Given the description of an element on the screen output the (x, y) to click on. 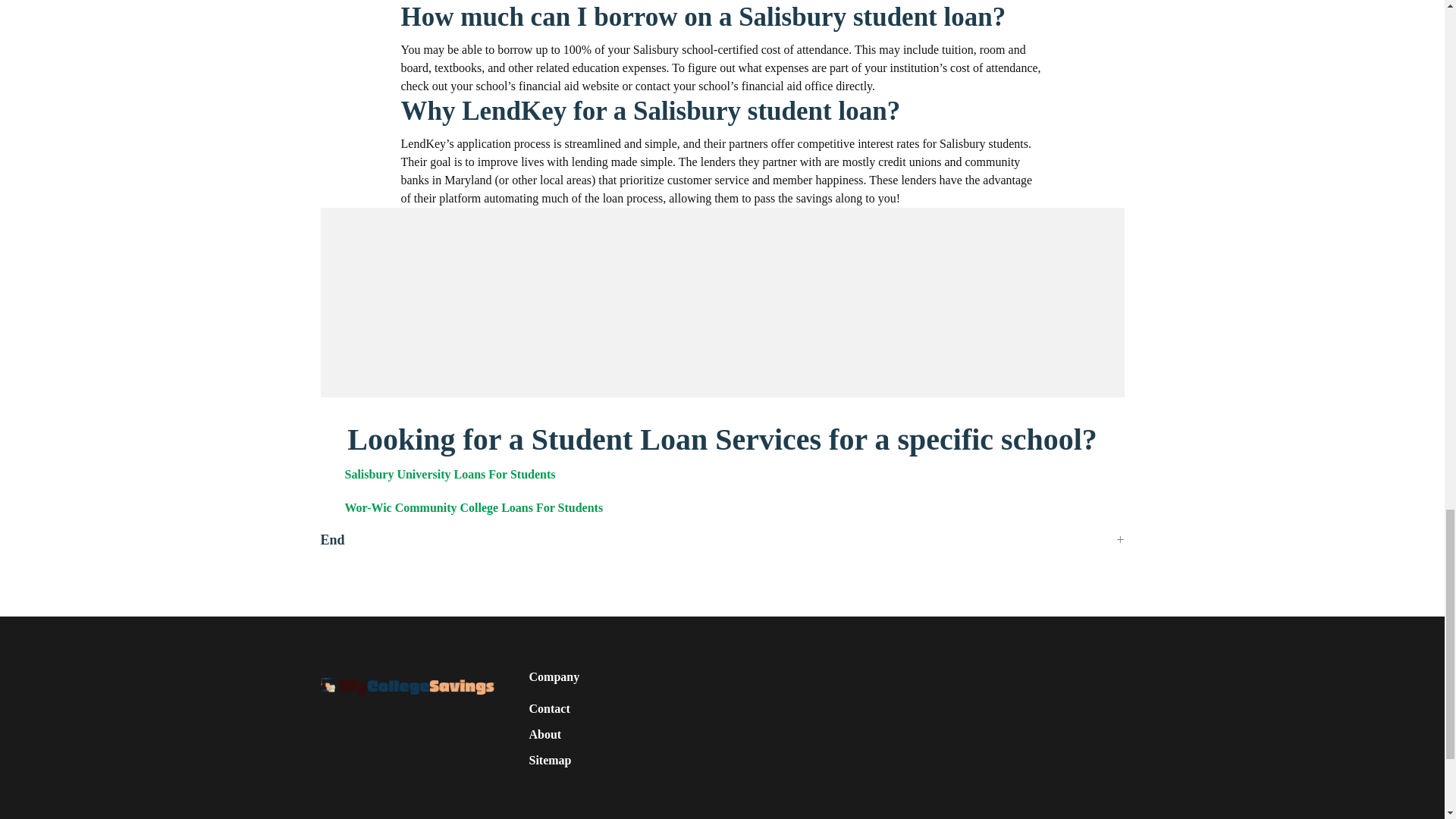
Sitemap (550, 760)
Wor-Wic Community College Loans For Students (472, 507)
Contact (549, 709)
Salisbury University Loans For Students (448, 473)
About (545, 734)
Wor-Wic Community College Loans For Students (472, 507)
Salisbury University Loans For Students (448, 473)
